Given the description of an element on the screen output the (x, y) to click on. 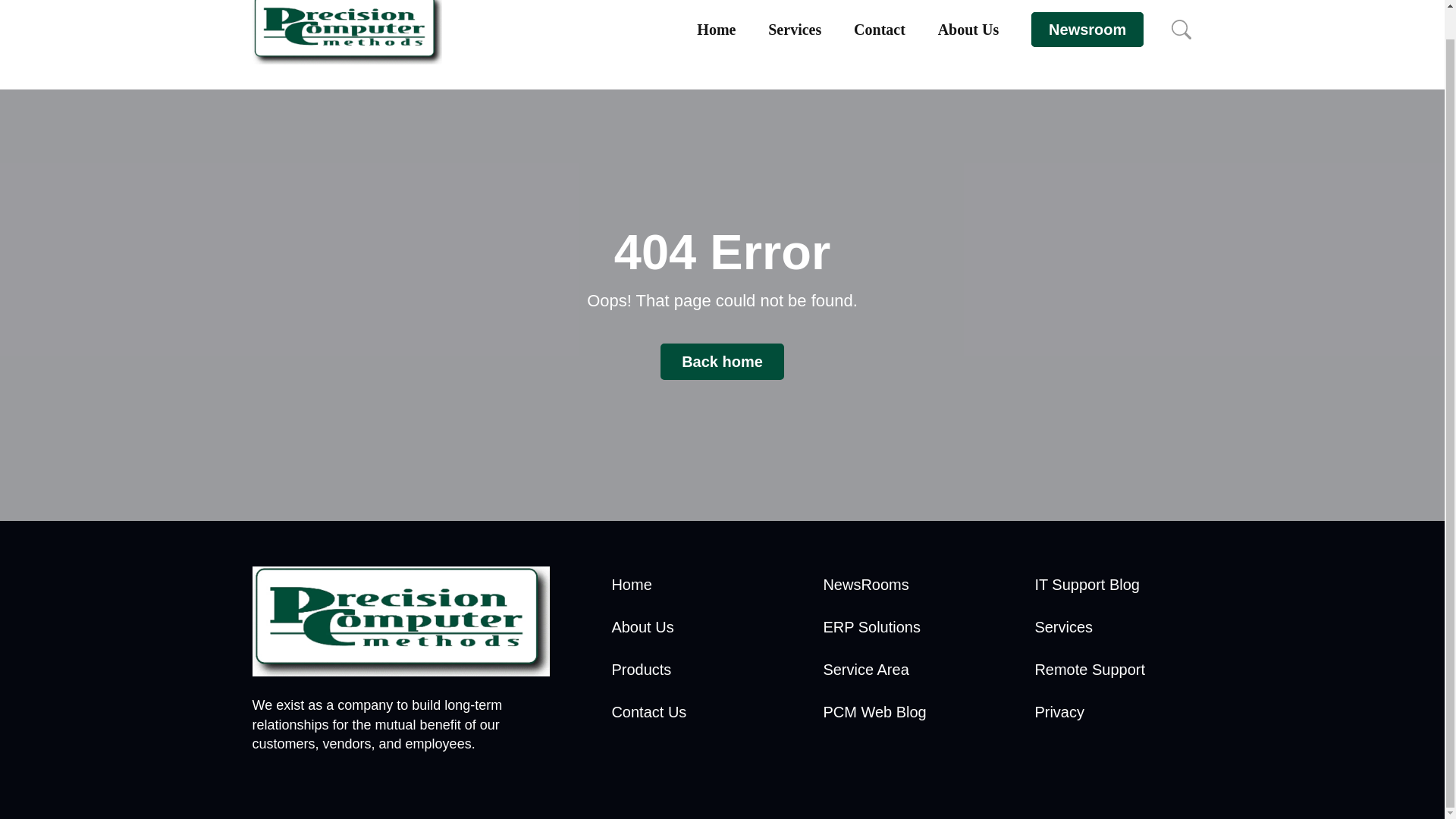
1300PrecisionLogoGreen-1 (399, 621)
Newsroom (1086, 29)
Contact (879, 29)
Services (794, 29)
1300PrecisionLogoGreen-1 (346, 32)
Home (716, 29)
About Us (967, 29)
